Given the description of an element on the screen output the (x, y) to click on. 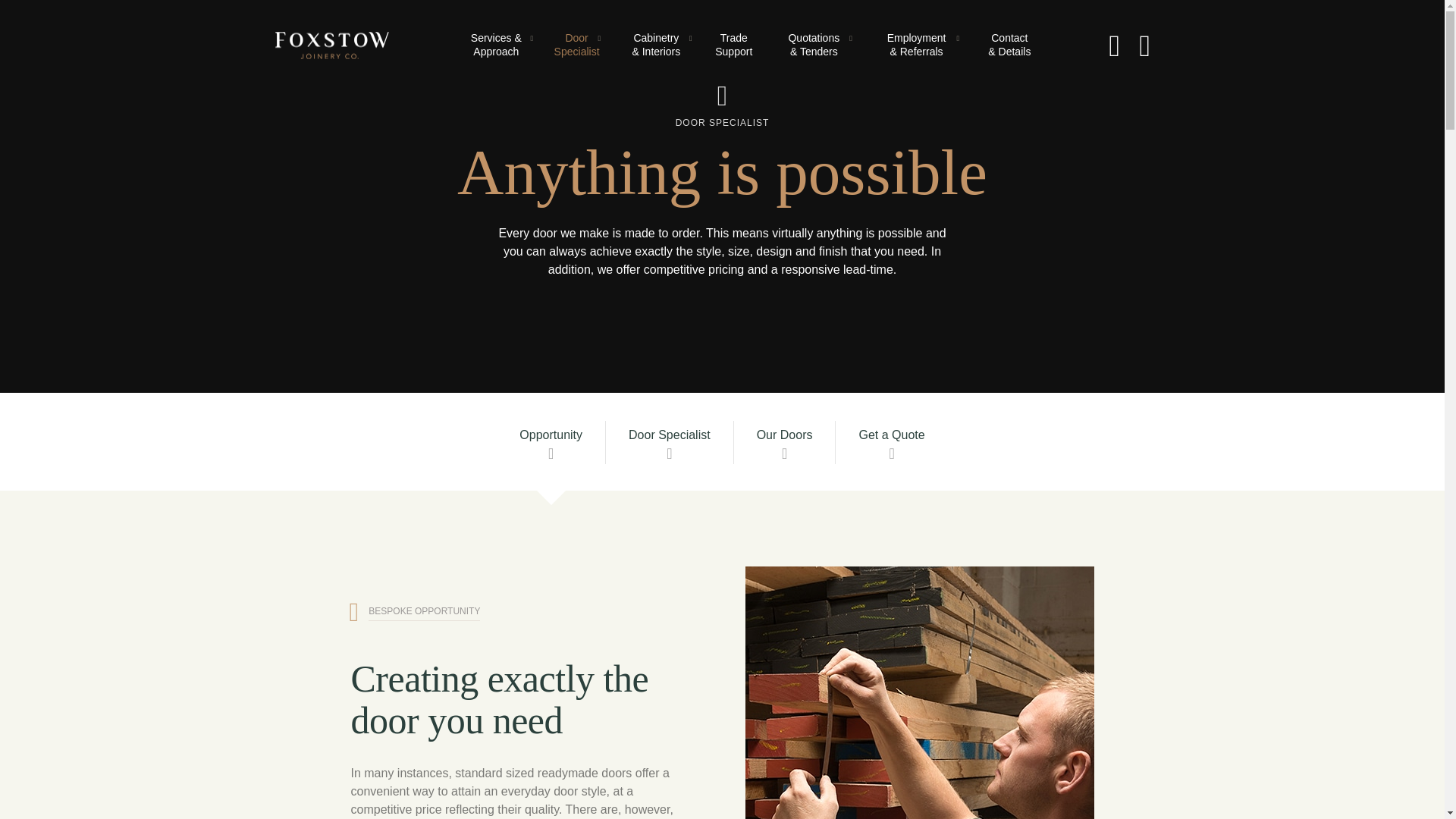
Door Specialist (576, 45)
Trade Support (733, 45)
